Given the description of an element on the screen output the (x, y) to click on. 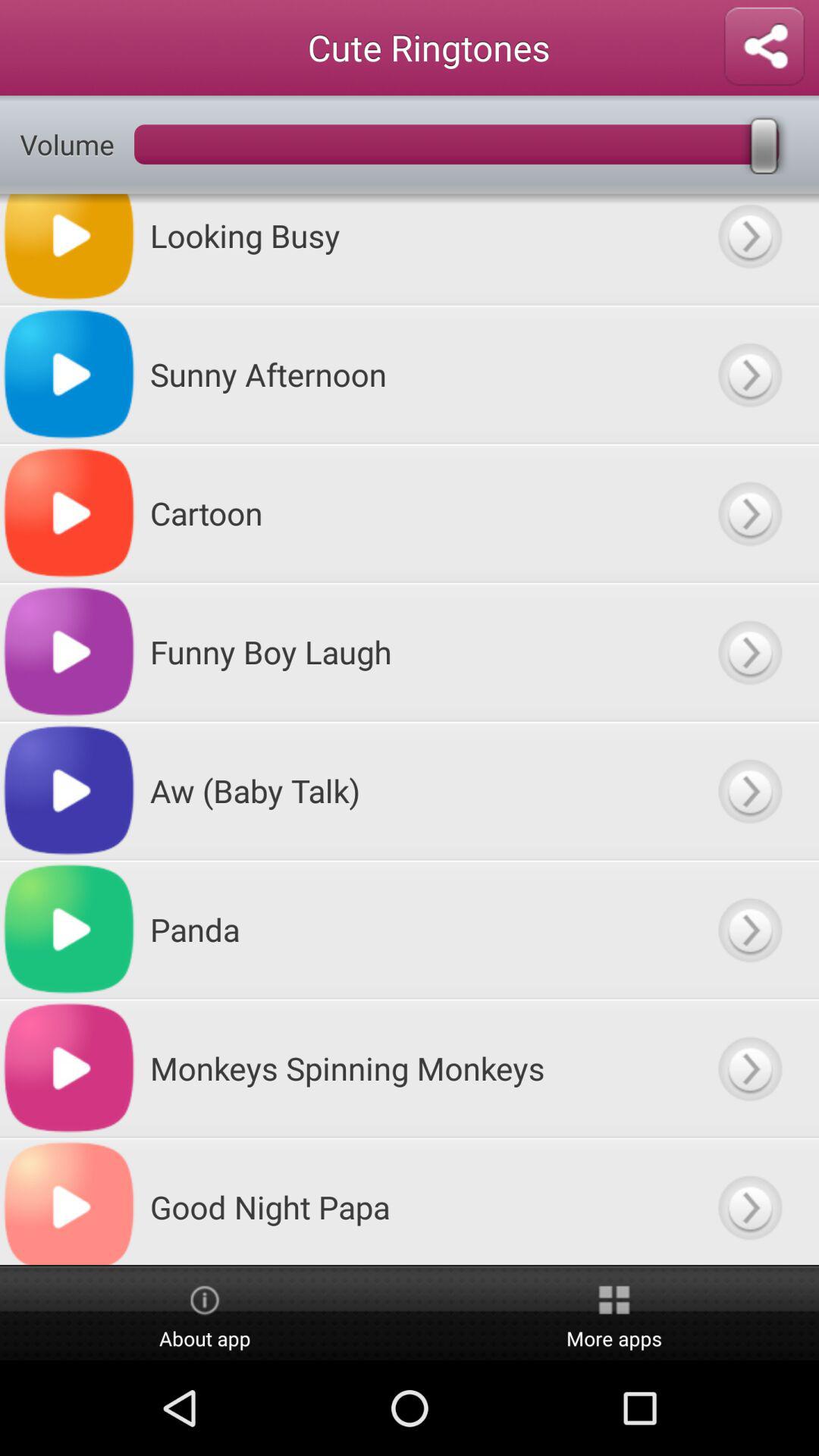
click on the fifth next button from the top (749, 791)
